Given the description of an element on the screen output the (x, y) to click on. 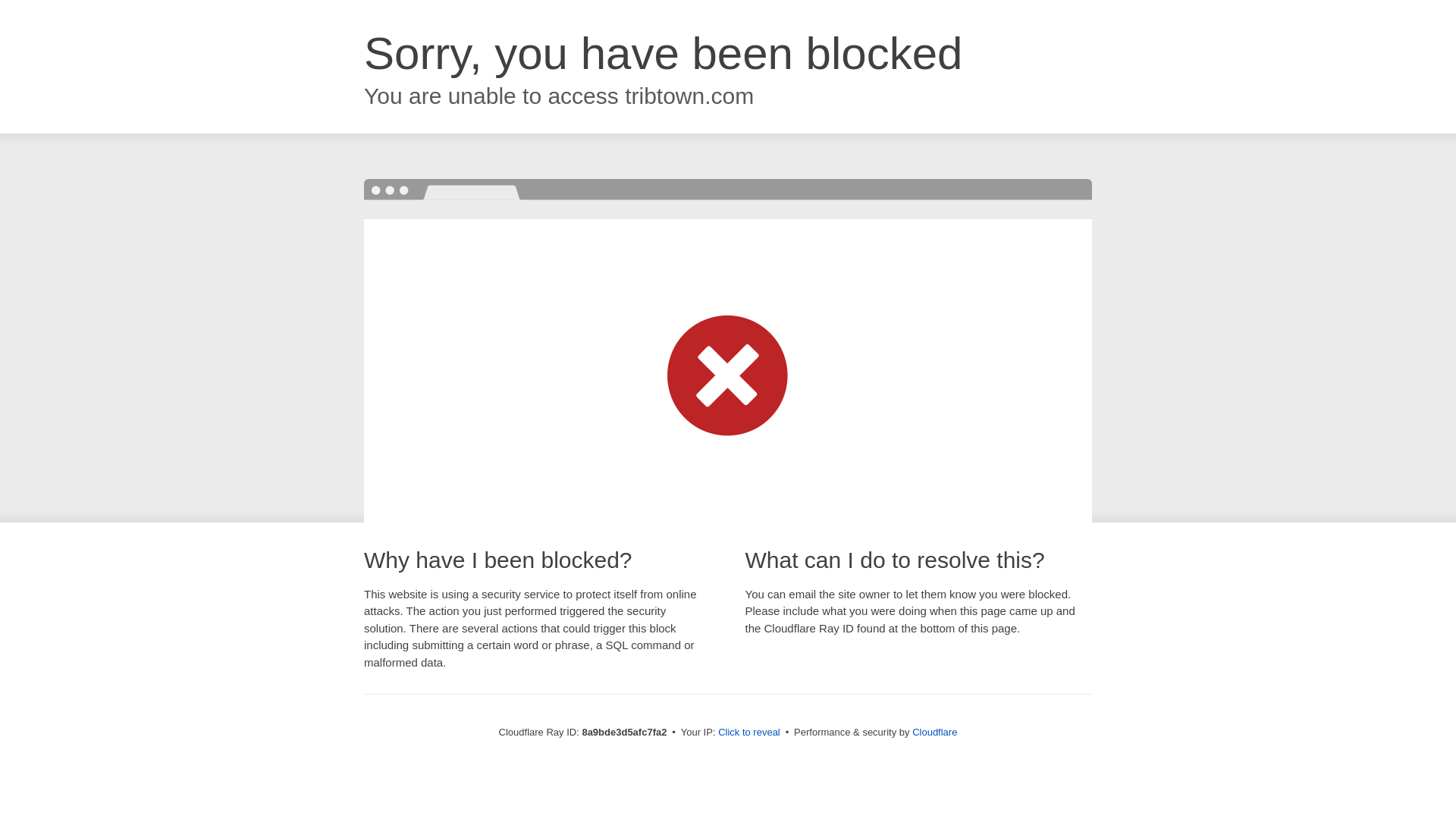
Cloudflare (934, 731)
Click to reveal (748, 732)
